Given the description of an element on the screen output the (x, y) to click on. 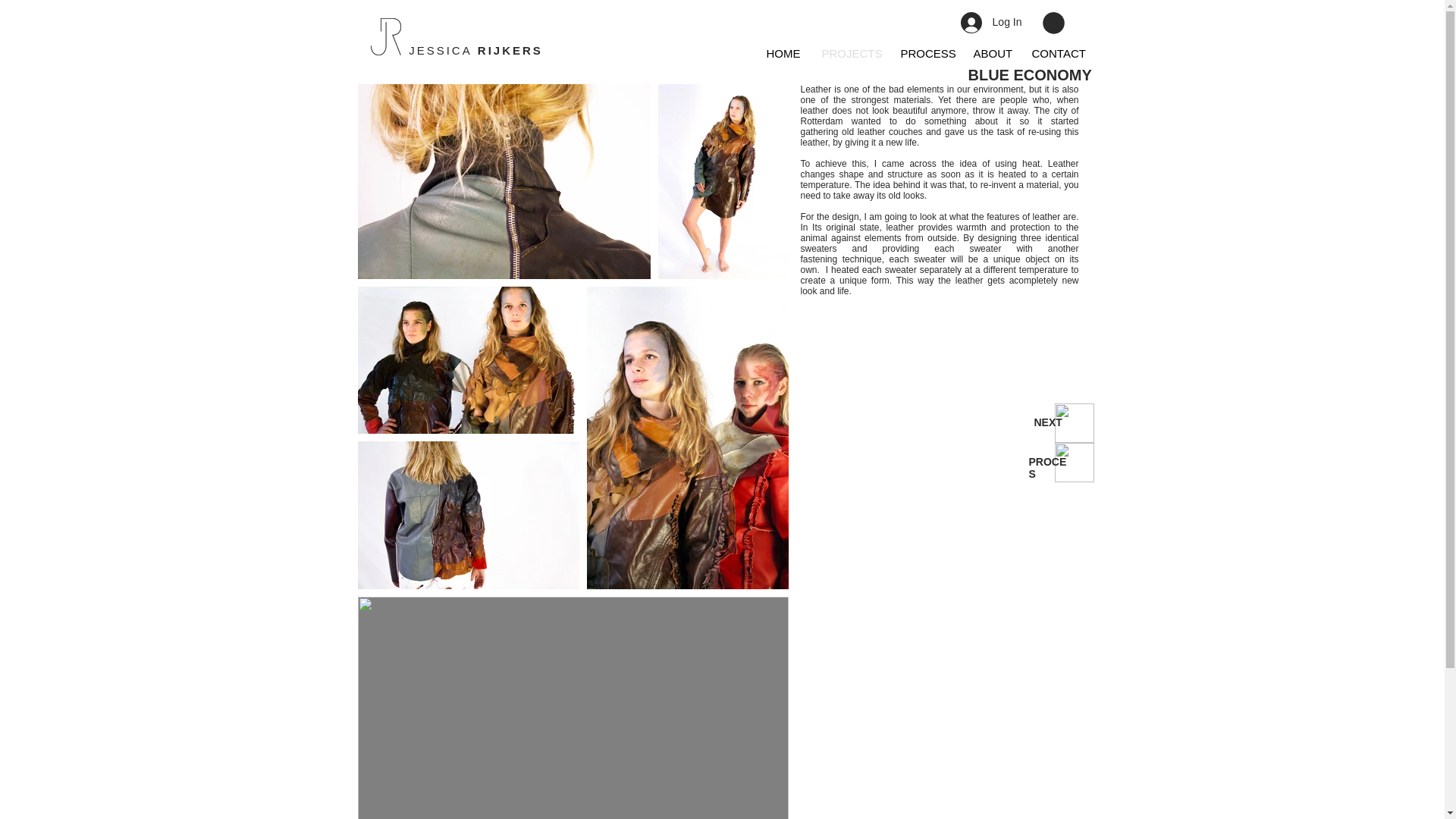
HOME (782, 53)
CONTACT (1057, 53)
JESSICA RIJKERS (476, 50)
PROJECTS (848, 53)
PROCESS (924, 53)
ABOUT (990, 53)
Log In (991, 22)
